Given the description of an element on the screen output the (x, y) to click on. 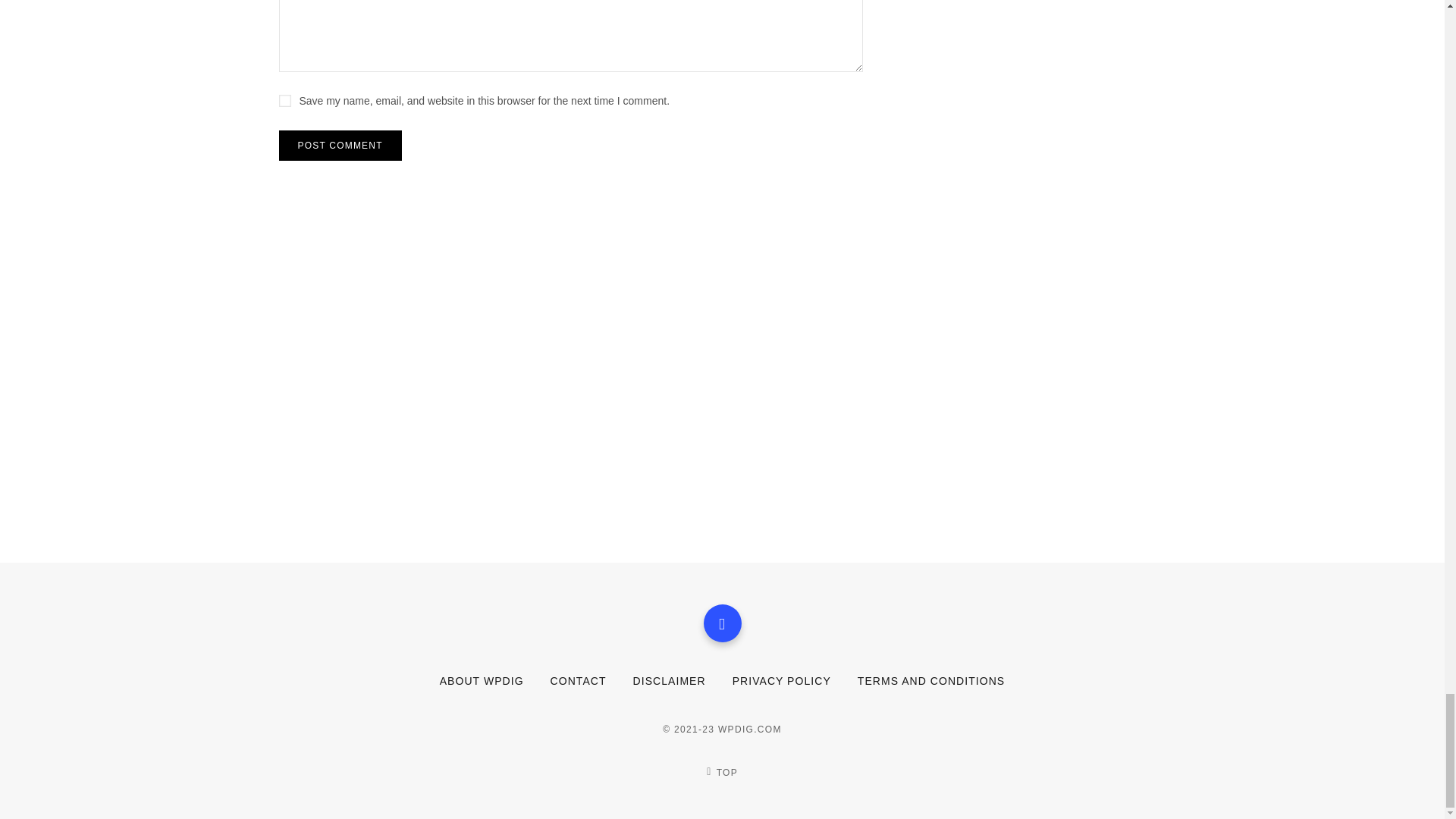
TERMS AND CONDITIONS (930, 680)
PRIVACY POLICY (781, 680)
Post Comment (340, 145)
CONTACT (578, 680)
yes (285, 101)
Post Comment (340, 145)
DISCLAIMER (669, 680)
ABOUT WPDIG (481, 680)
